Given the description of an element on the screen output the (x, y) to click on. 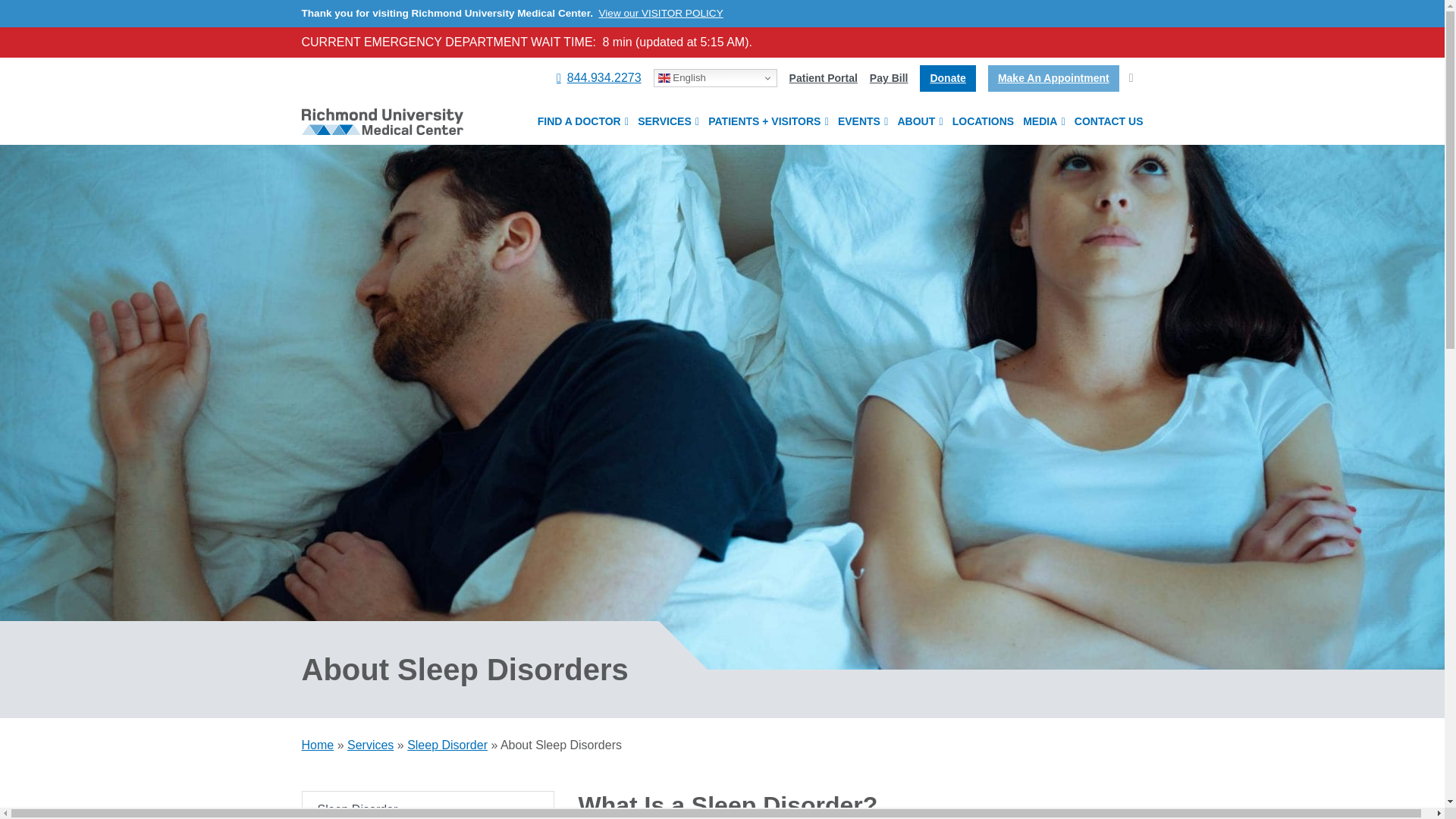
844.934.2273 (599, 77)
View our VISITOR POLICY (660, 12)
